Given the description of an element on the screen output the (x, y) to click on. 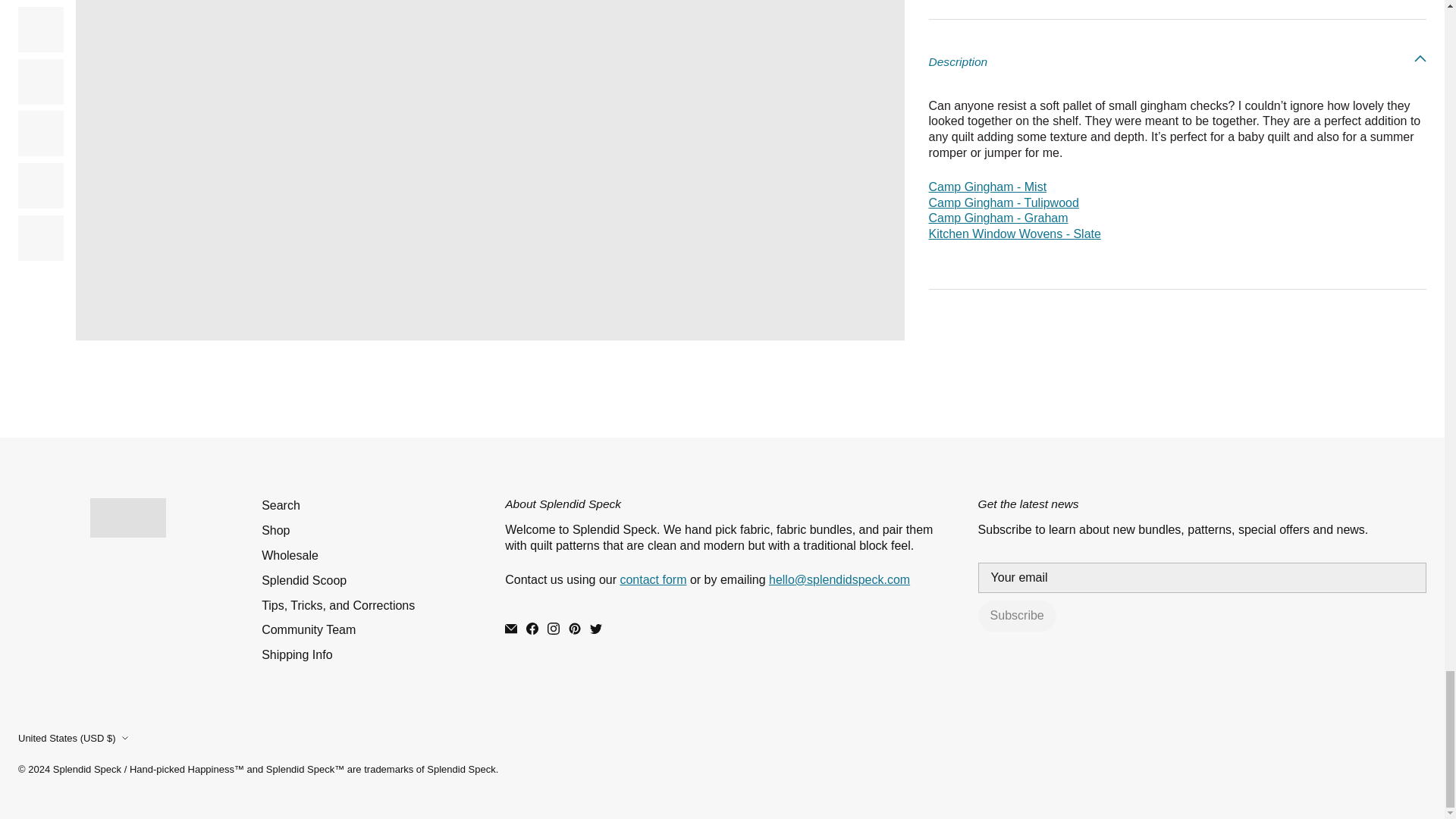
email Splendid Speck (839, 579)
Contact Us (652, 579)
